Given the description of an element on the screen output the (x, y) to click on. 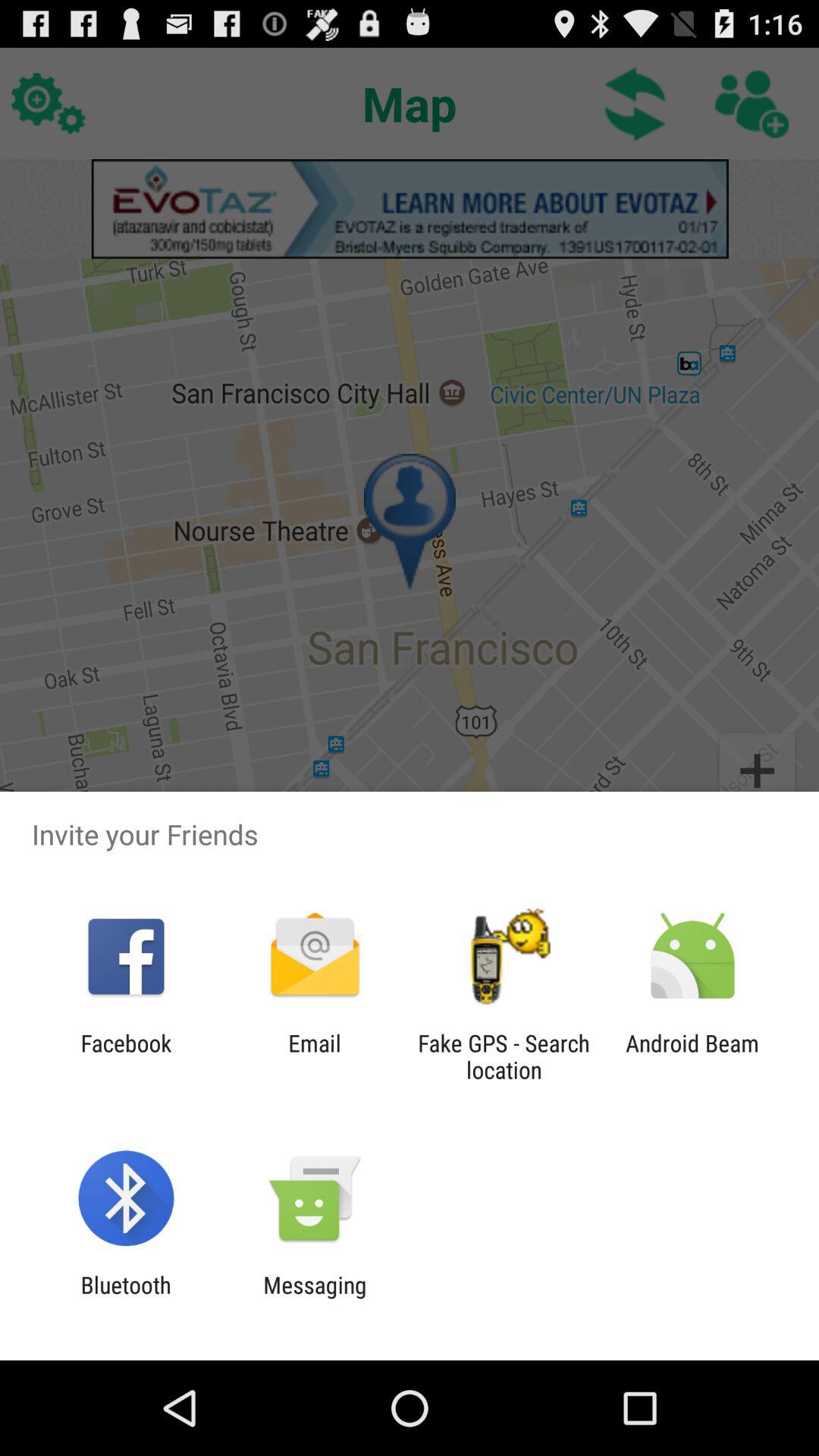
select email icon (314, 1056)
